Given the description of an element on the screen output the (x, y) to click on. 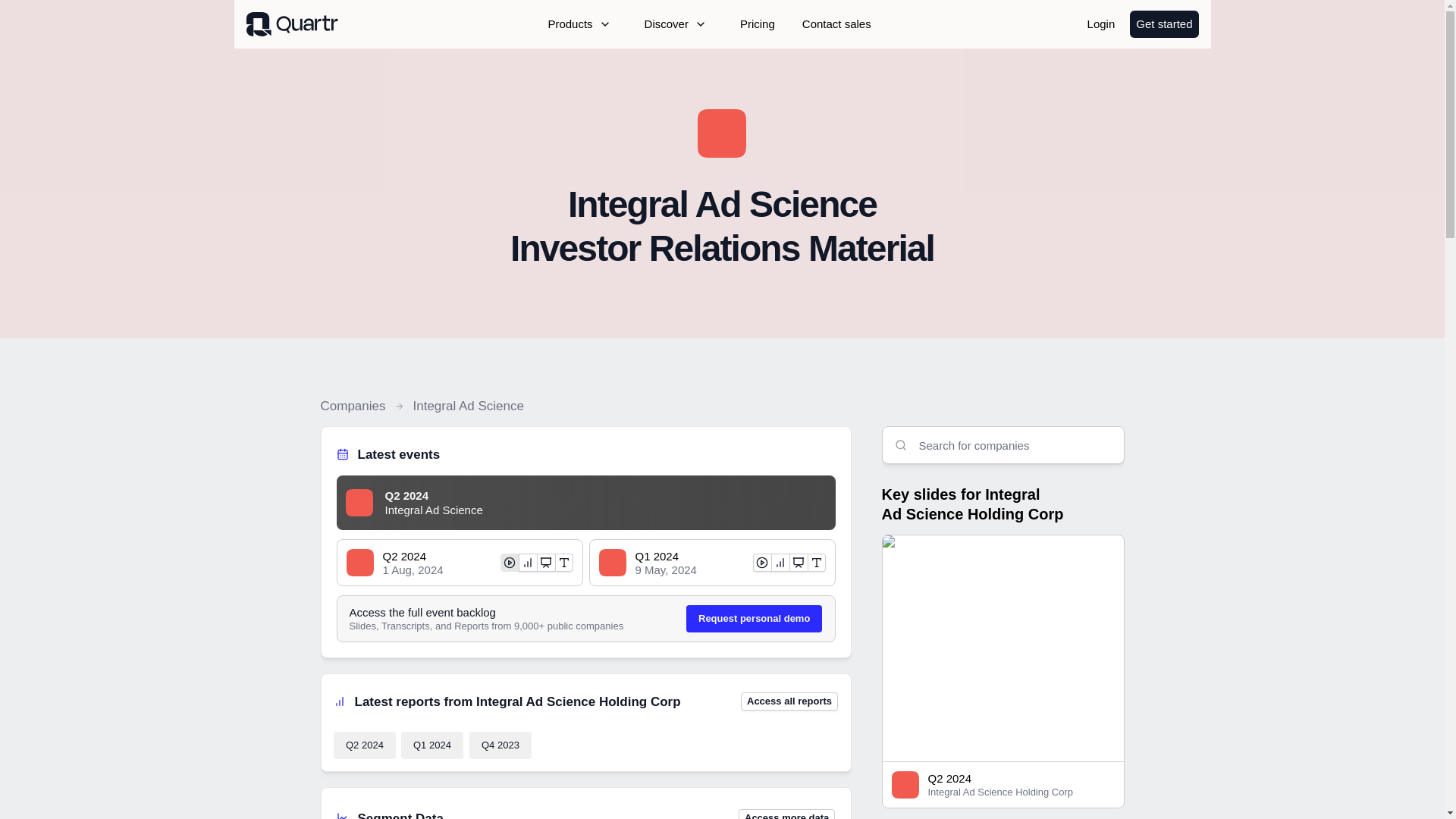
Companies (352, 406)
Request personal demo (753, 618)
Q4 2023 (499, 745)
Get started (1163, 23)
Integral Ad Science (467, 406)
Q1 2024 (432, 745)
Quartr Audio Player (662, 505)
Access all reports (789, 701)
Contact sales (836, 23)
Pricing (756, 23)
